Given the description of an element on the screen output the (x, y) to click on. 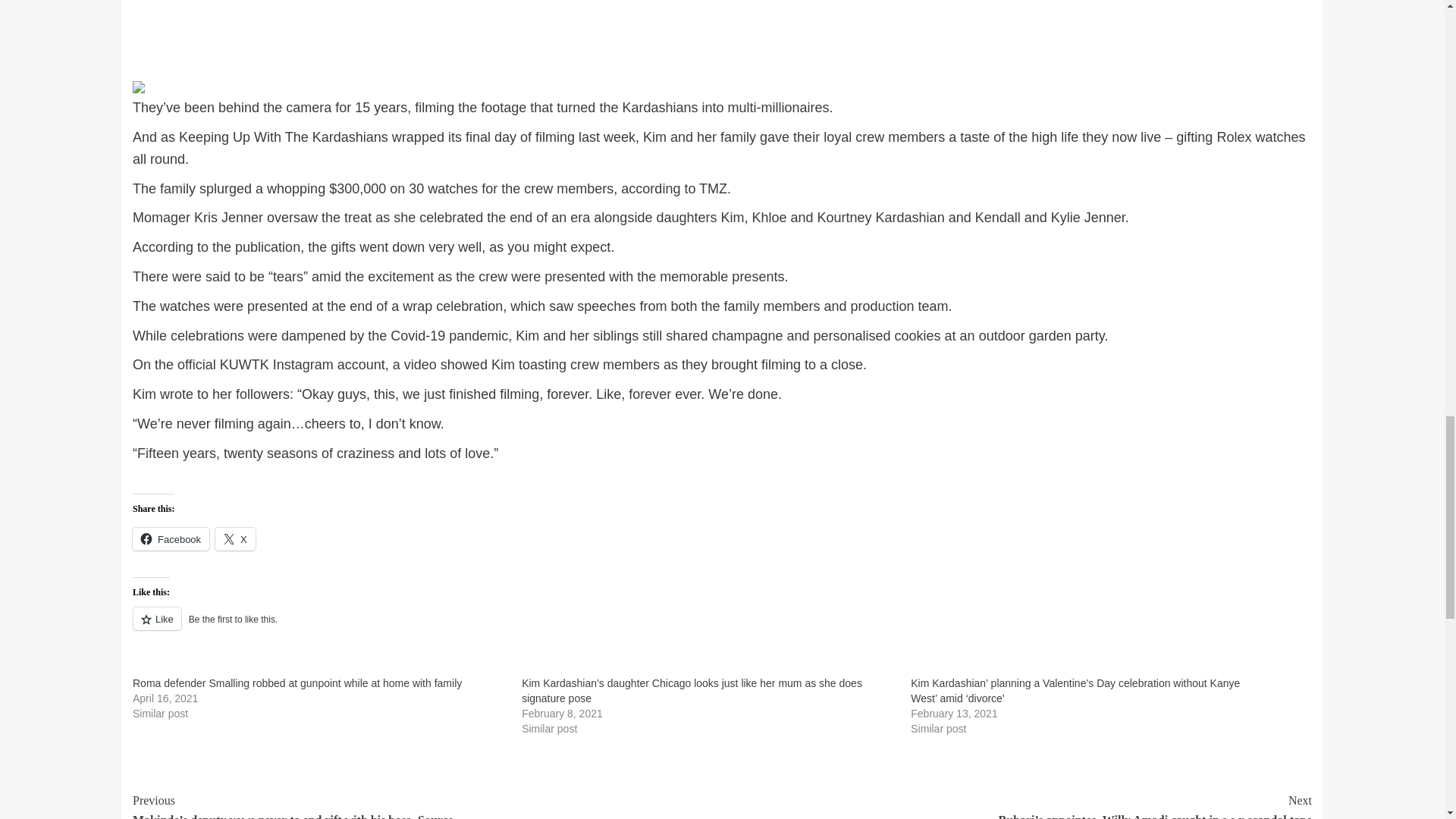
Facebook (170, 538)
X (235, 538)
Click to share on Facebook (170, 538)
Like or Reblog (721, 627)
Click to share on X (235, 538)
